Given the description of an element on the screen output the (x, y) to click on. 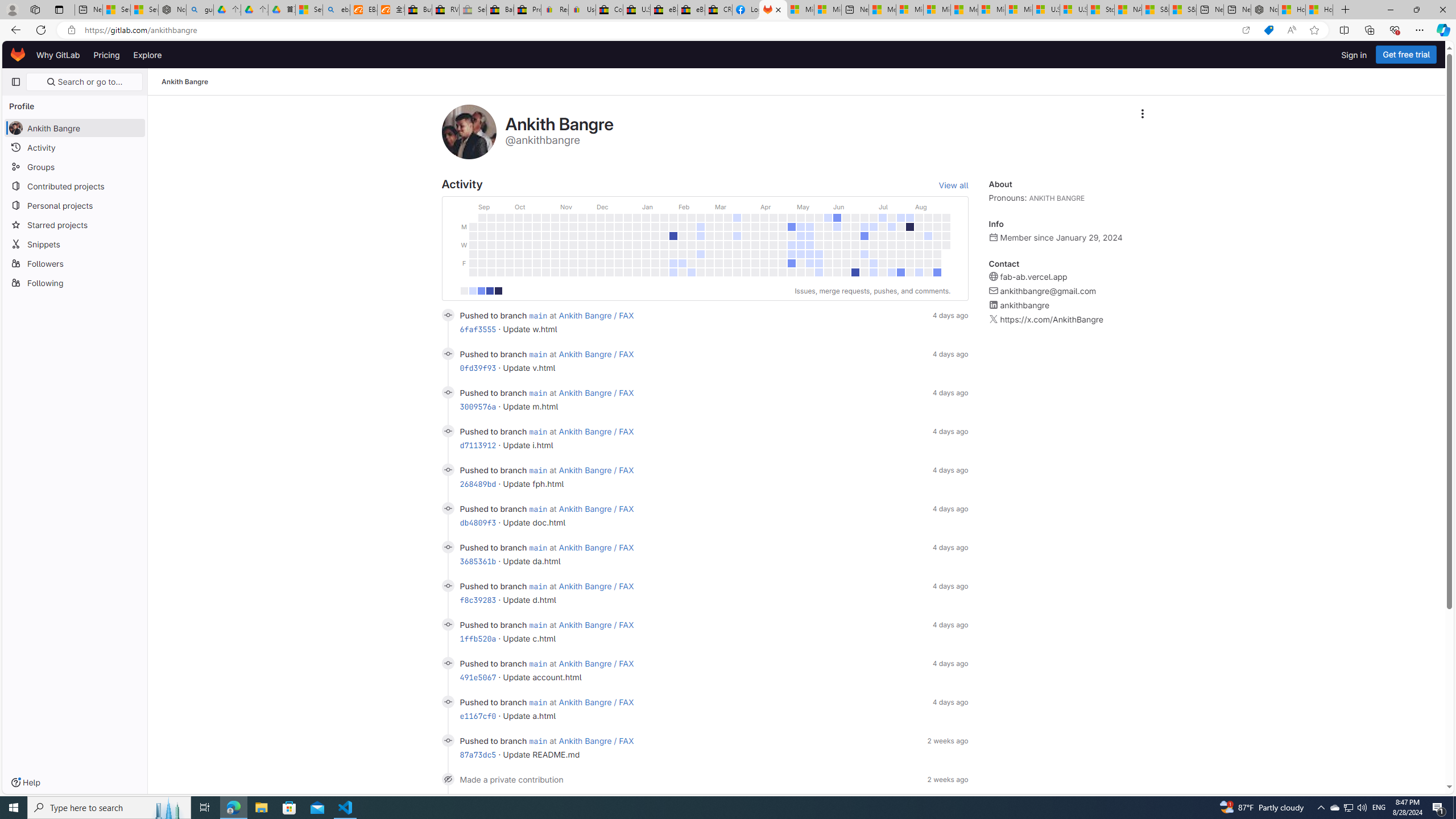
30+ contributions (497, 290)
Personal projects (74, 205)
Primary navigation sidebar (15, 81)
